Given the description of an element on the screen output the (x, y) to click on. 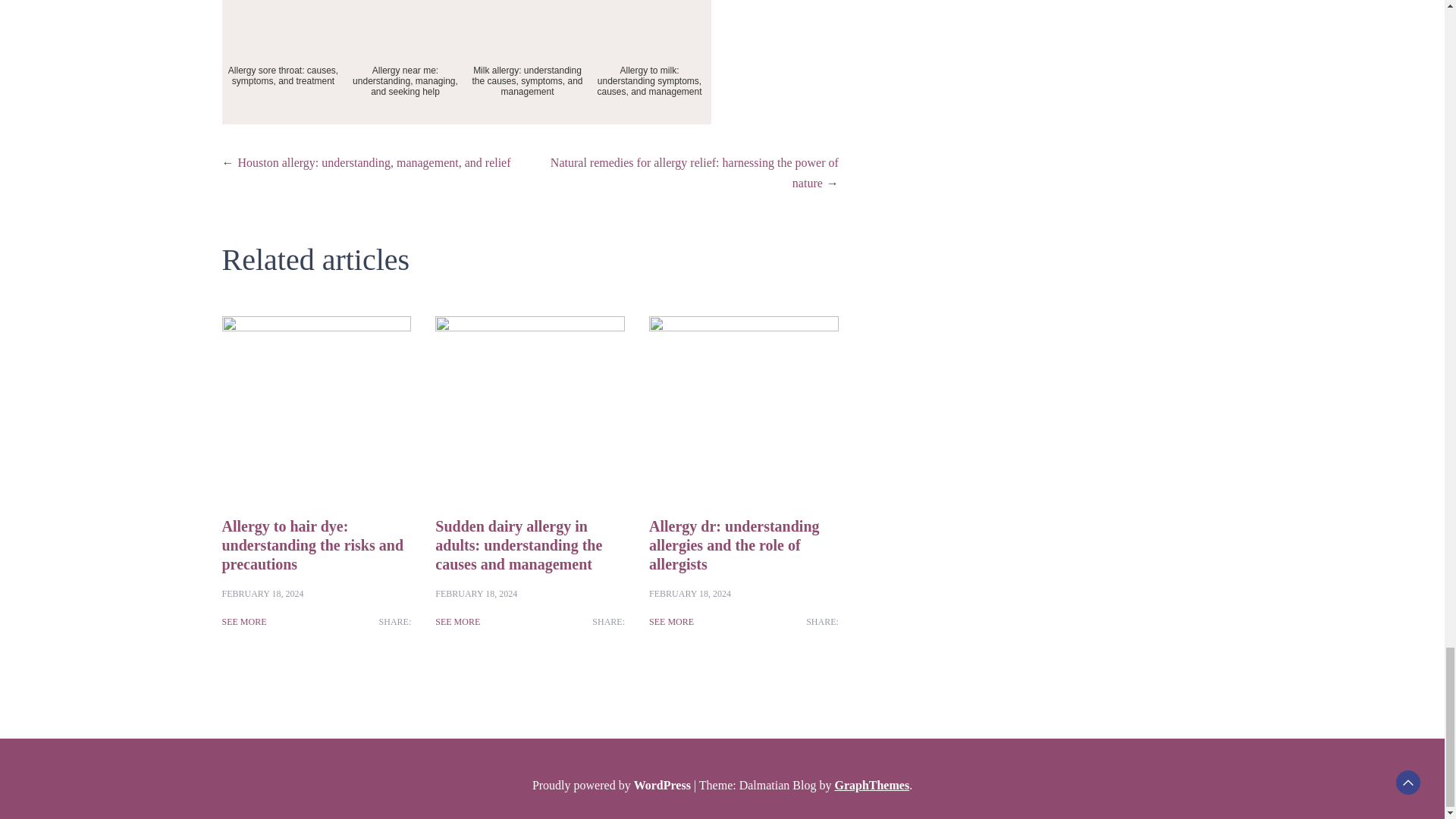
Houston allergy: understanding, management, and relief (374, 162)
Allergy sore throat: causes, symptoms, and treatment (282, 62)
Allergy to hair dye: understanding the risks and precautions (312, 544)
SEE MORE (243, 621)
Allergy near me: understanding, managing, and seeking help (405, 62)
FEBRUARY 18, 2024 (261, 593)
